Given the description of an element on the screen output the (x, y) to click on. 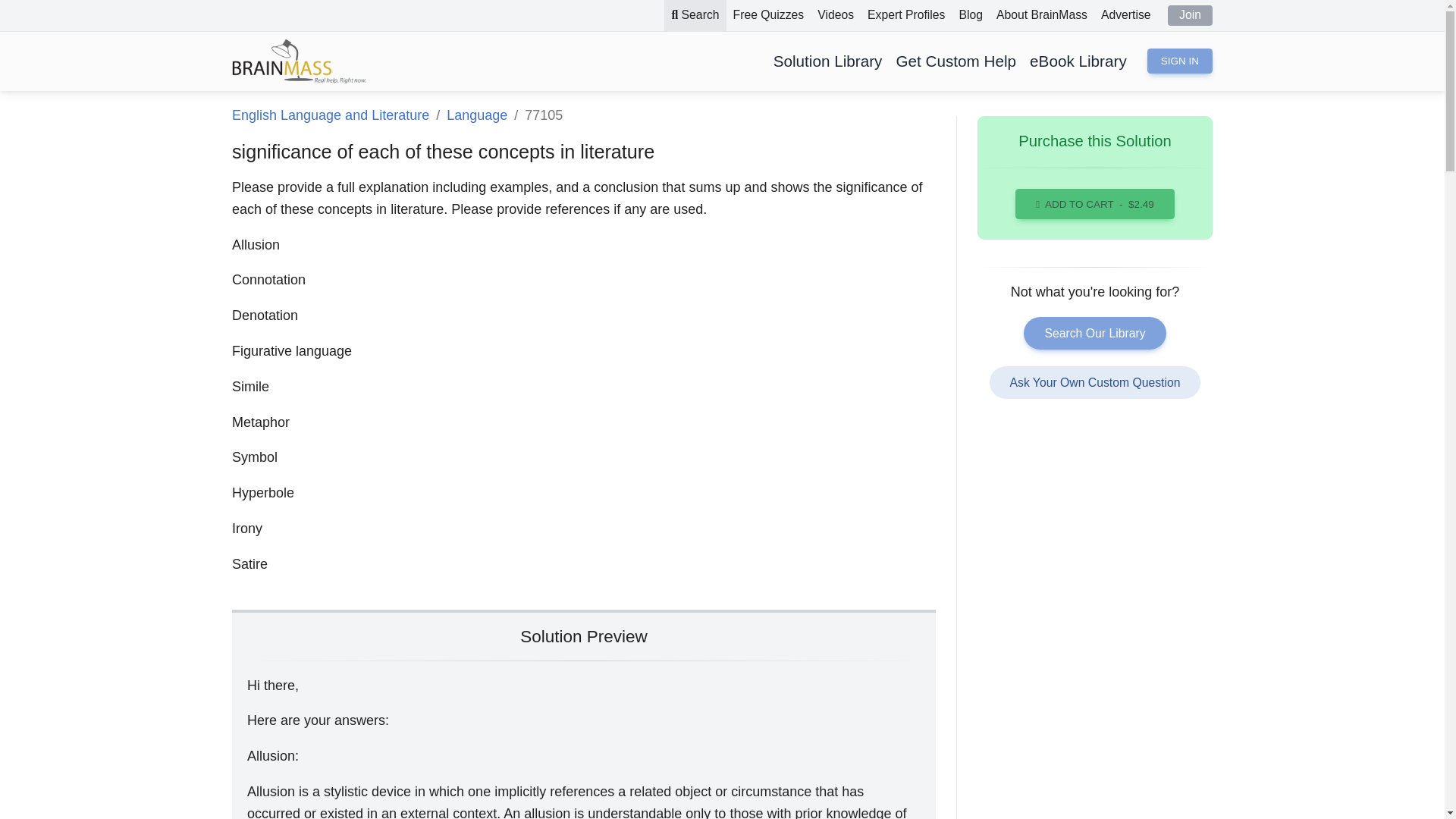
Videos (835, 15)
About BrainMass (1042, 15)
Search (694, 15)
SIGN IN (1179, 60)
Free Quizzes (768, 15)
Join (1189, 14)
English Language and Literature (330, 114)
Advertise (1125, 15)
Language (476, 114)
Expert Profiles (906, 15)
